Given the description of an element on the screen output the (x, y) to click on. 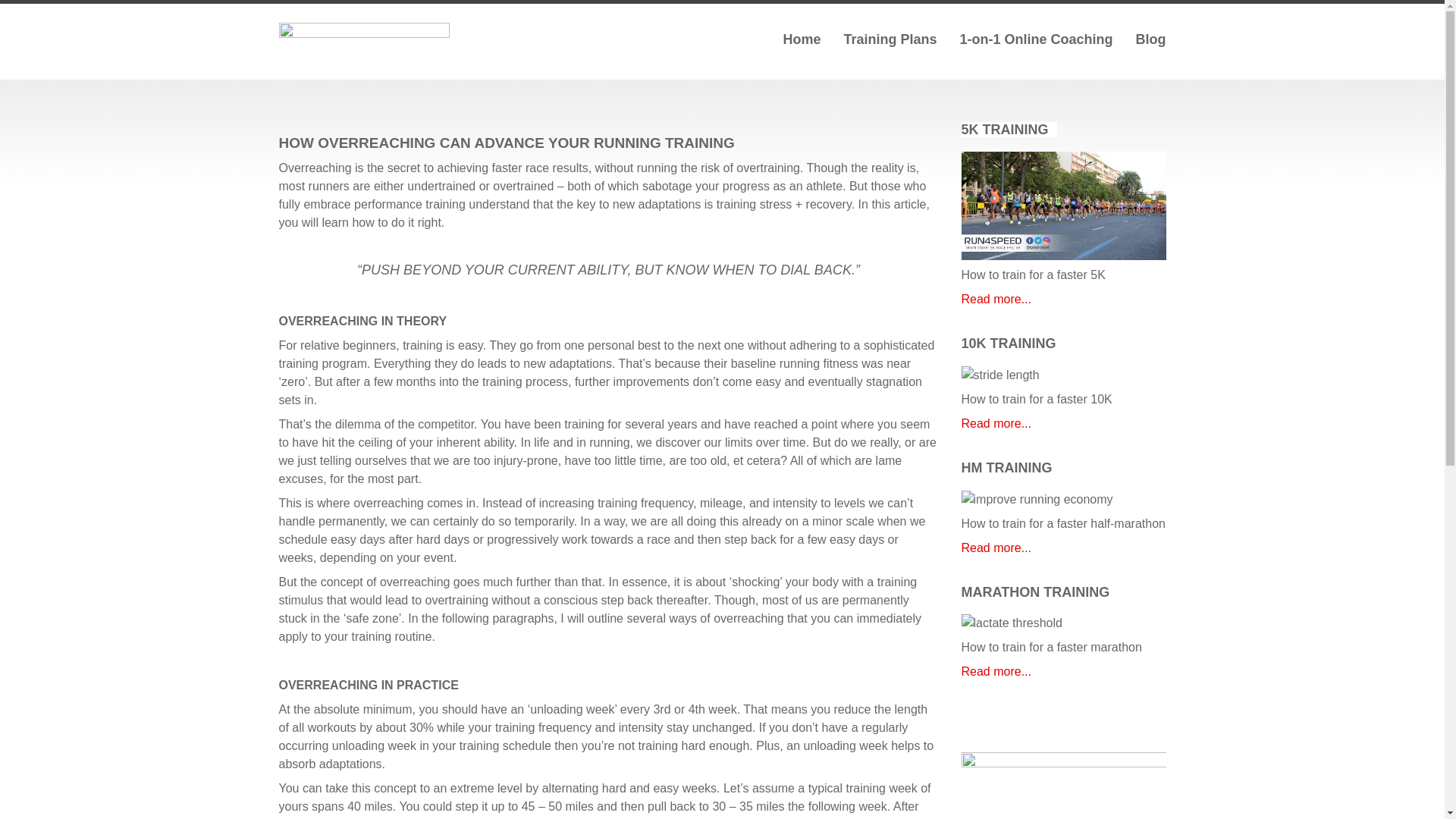
Read more... (995, 298)
Read more... (995, 422)
1-on-1 Online Coaching (1035, 45)
Home (802, 45)
Read more... (995, 671)
Training Plans (889, 45)
Read more... (995, 547)
